Given the description of an element on the screen output the (x, y) to click on. 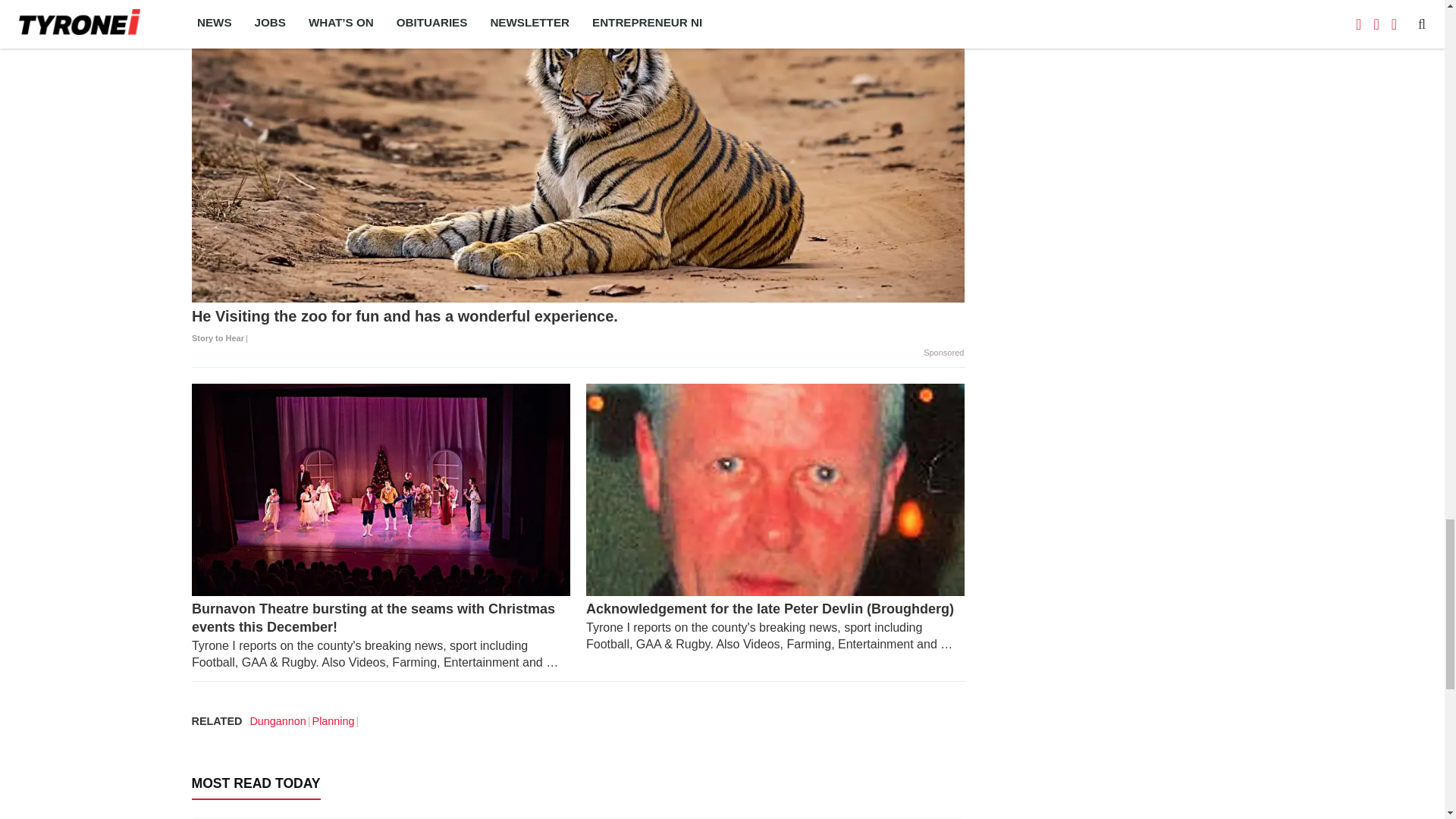
He Visiting the zoo for fun and has a wonderful experience. (577, 327)
